Given the description of an element on the screen output the (x, y) to click on. 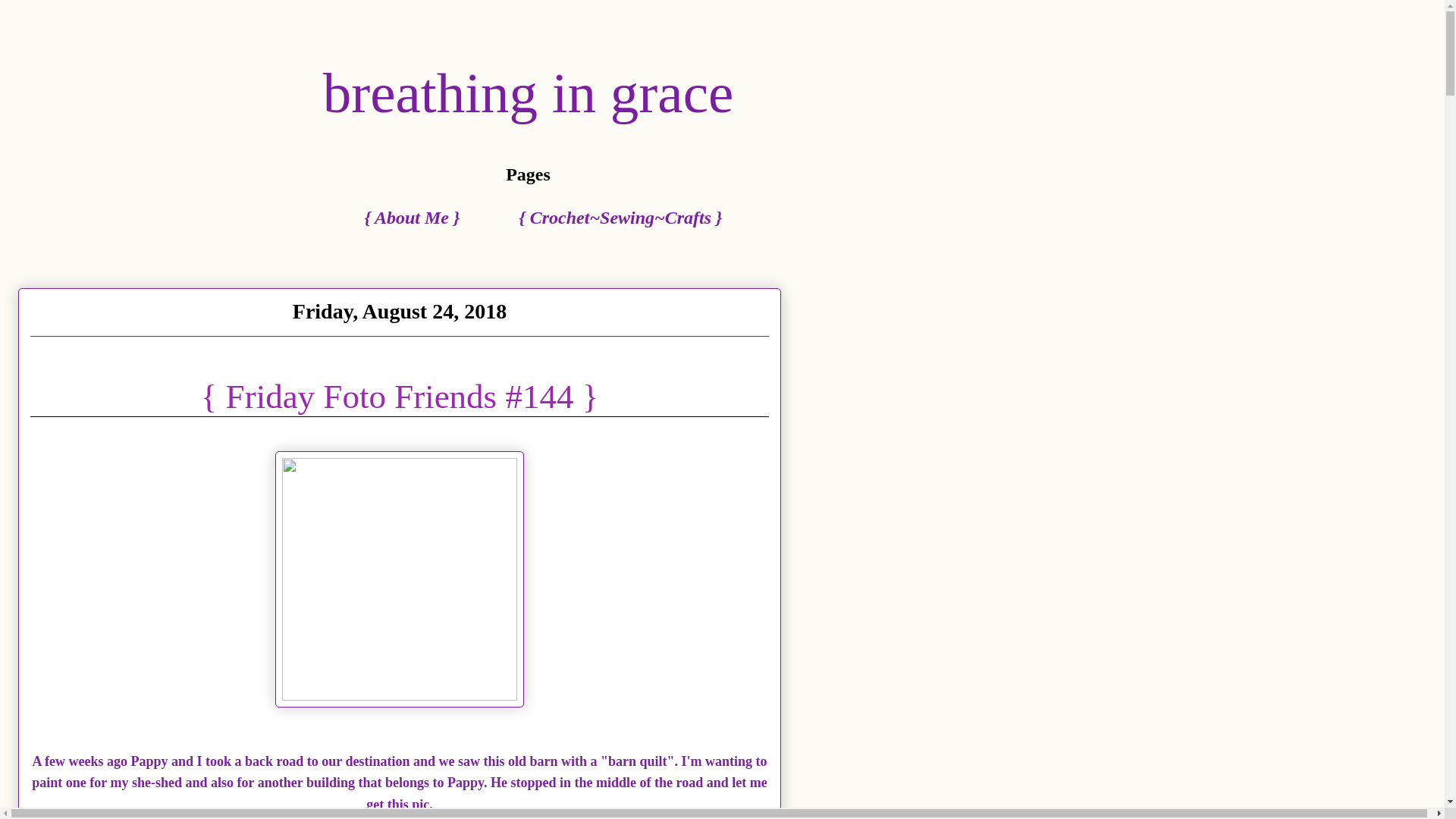
breathing in grace (528, 92)
